Given the description of an element on the screen output the (x, y) to click on. 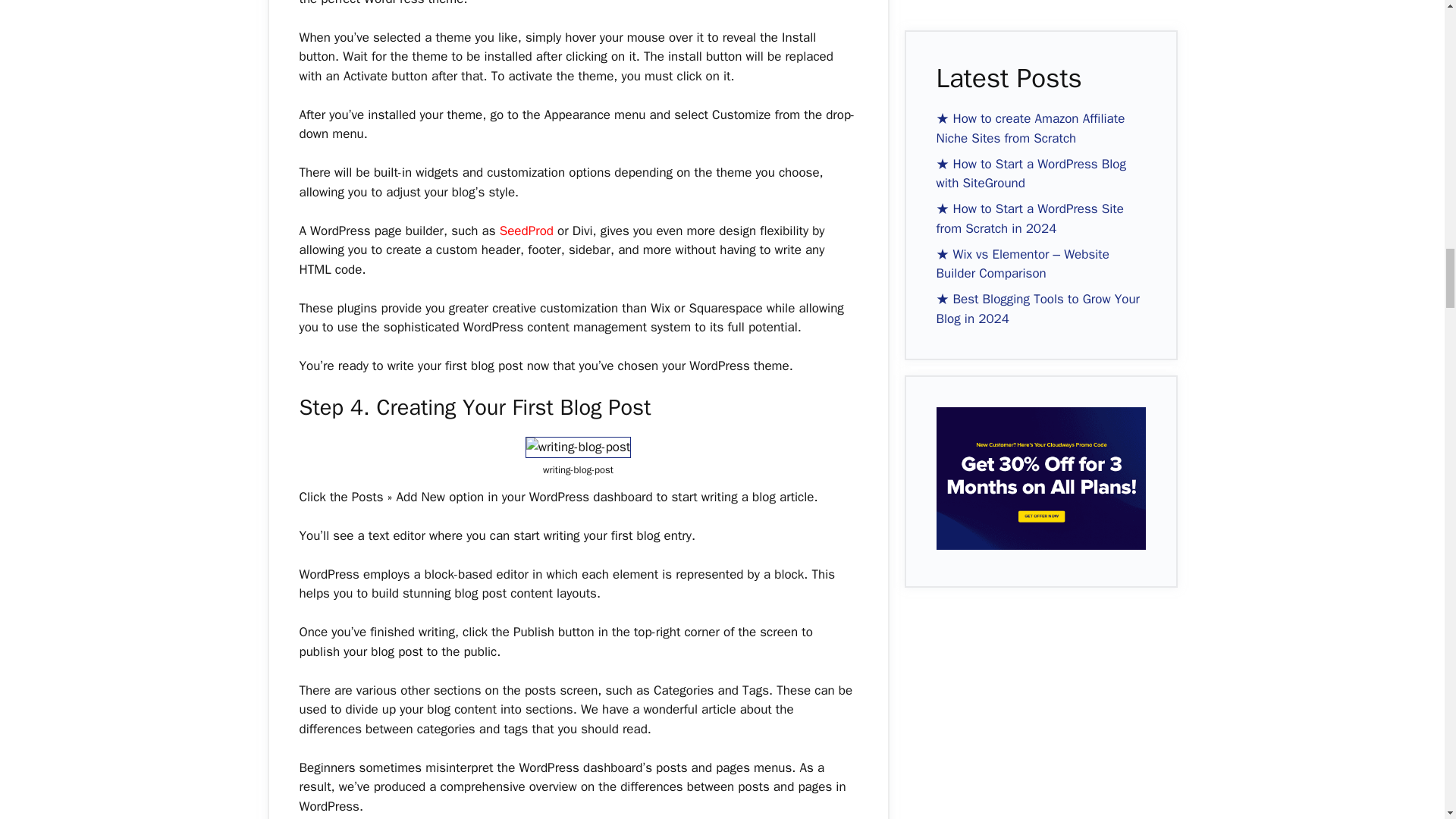
SeedProd (526, 230)
